Given the description of an element on the screen output the (x, y) to click on. 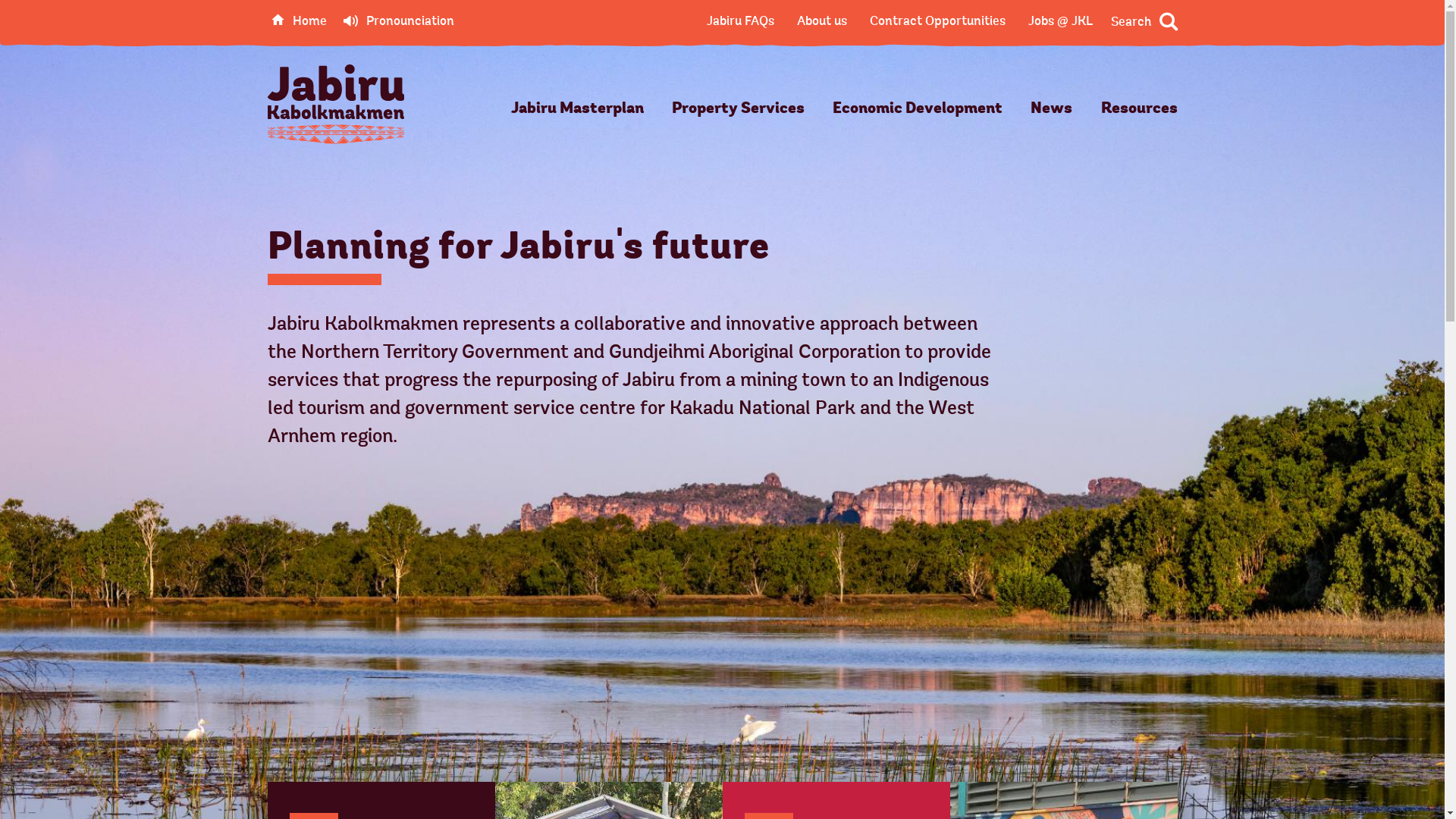
About us Element type: text (821, 20)
Jabiru Masterplan Element type: text (577, 109)
Skip to main content Element type: text (22, 22)
Property Services Element type: text (737, 109)
Resources Element type: text (1139, 109)
Pronounciation Element type: text (397, 20)
Jabiru FAQs Element type: text (740, 20)
Search Element type: text (1143, 21)
Jobs @ JKL Element type: text (1060, 20)
Contract Opportunities Element type: text (936, 20)
Home Element type: text (298, 21)
News Element type: text (1051, 109)
